Given the description of an element on the screen output the (x, y) to click on. 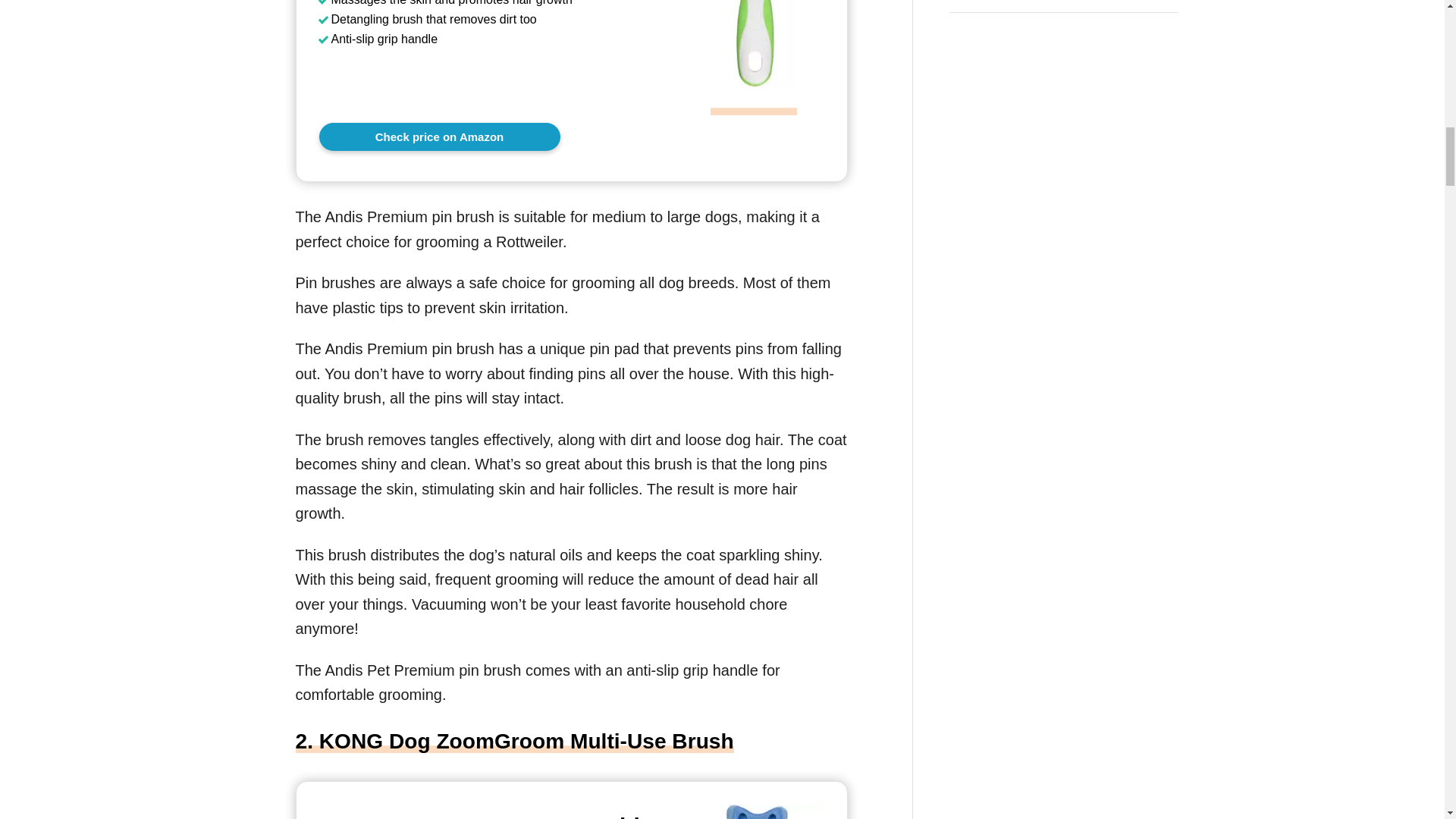
Andis Premium Large Pin Pet Brush (753, 102)
Andis Premium Large Pin Pet Brush (438, 136)
KONG Dog ZoomGroom Multi-Use Brush (489, 815)
Check price on Amazon (438, 136)
2. KONG Dog ZoomGroom Multi-Use Brush (514, 740)
KONG Dog ZoomGroom Multi-Use Brush (489, 815)
